Given the description of an element on the screen output the (x, y) to click on. 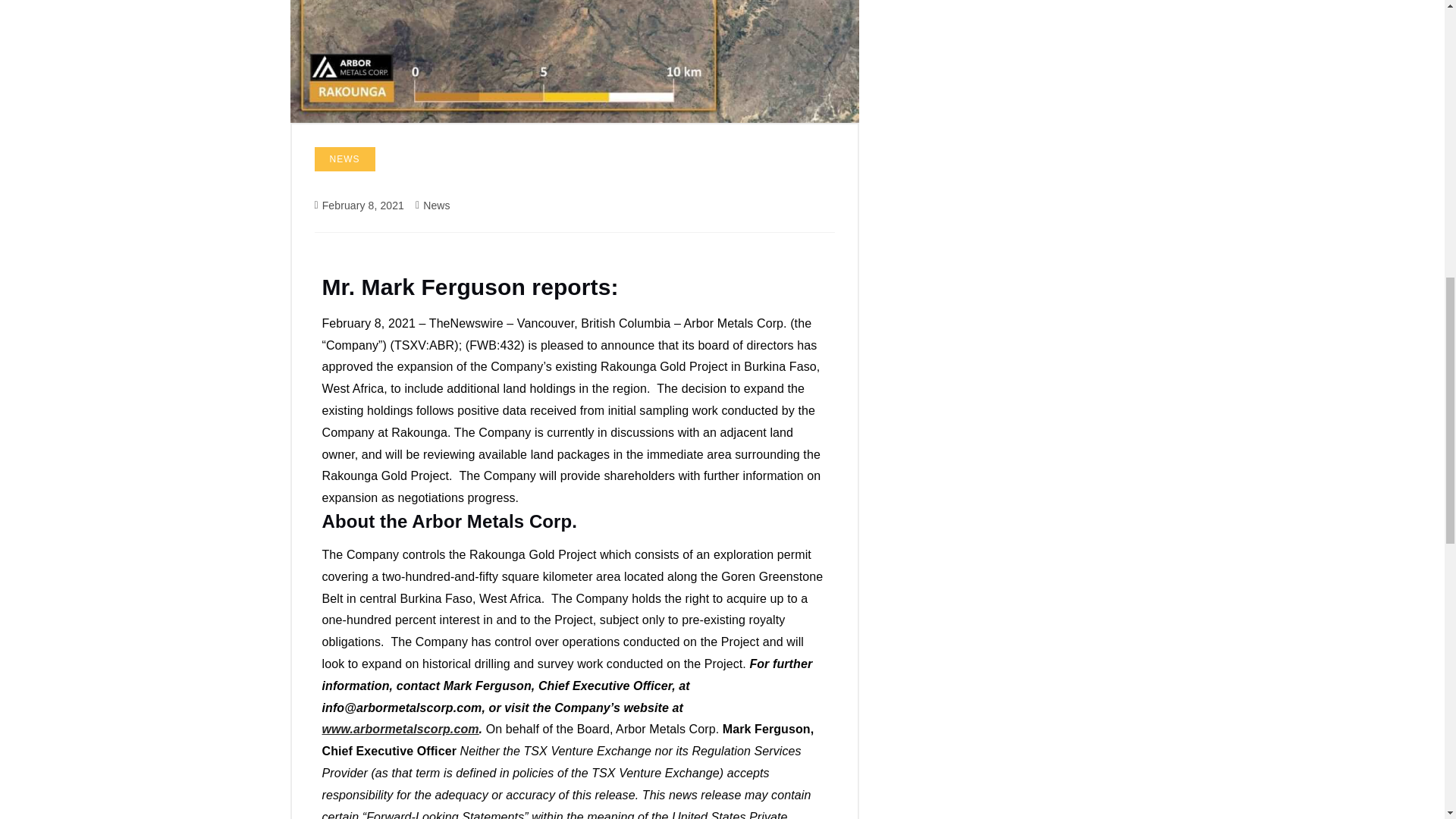
NEWS (344, 159)
News (436, 205)
February 8, 2021 (362, 205)
www.arbormetalscorp.com (400, 728)
